Given the description of an element on the screen output the (x, y) to click on. 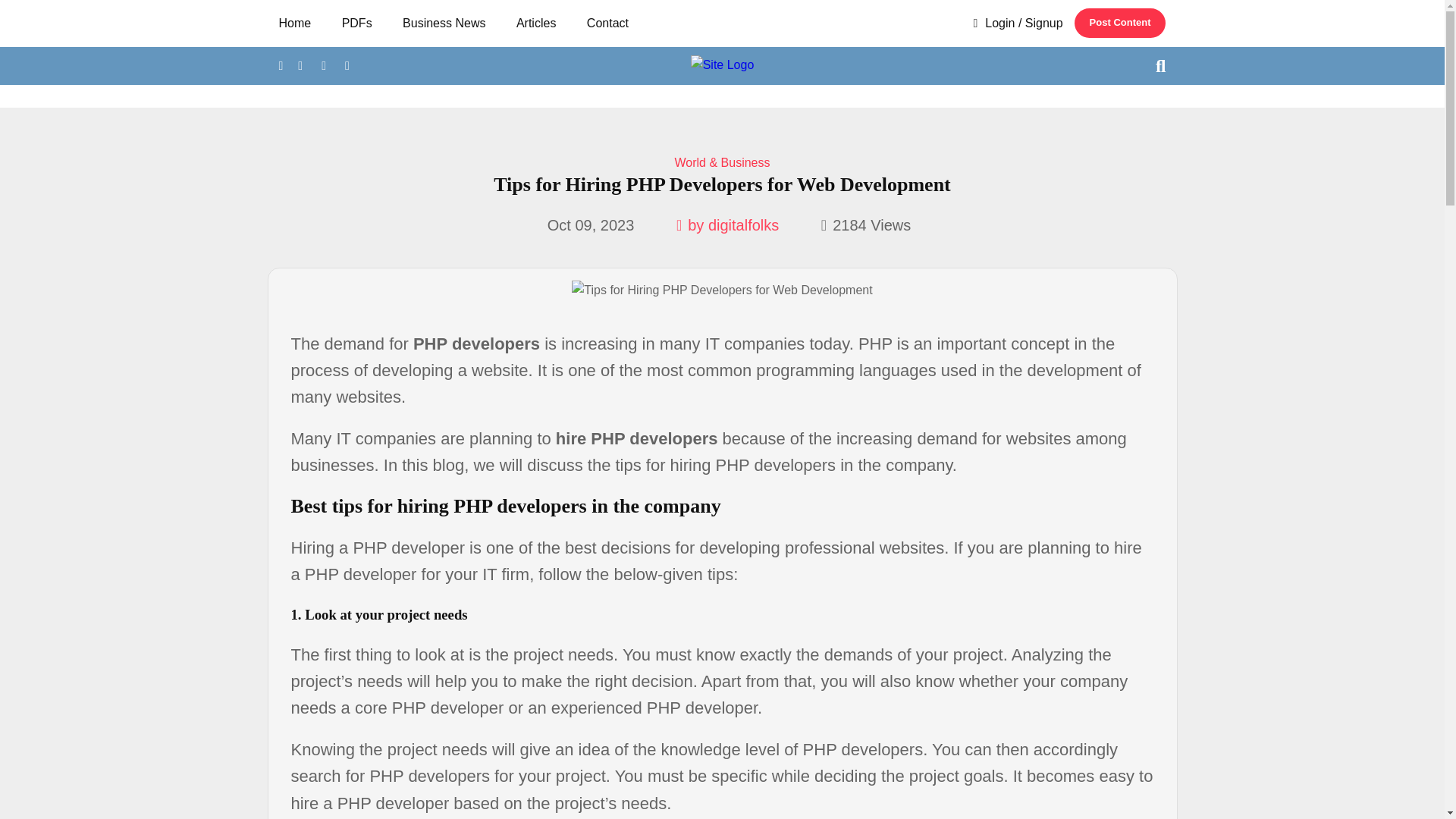
Articles (536, 23)
Contact (607, 23)
by digitalfolks (727, 225)
twitter (299, 65)
Tips for Hiring PHP Developers for Web Development (722, 290)
Post Content (1120, 22)
Business News (444, 23)
pinterest (323, 65)
tumblr (346, 65)
PDFs (356, 23)
